Given the description of an element on the screen output the (x, y) to click on. 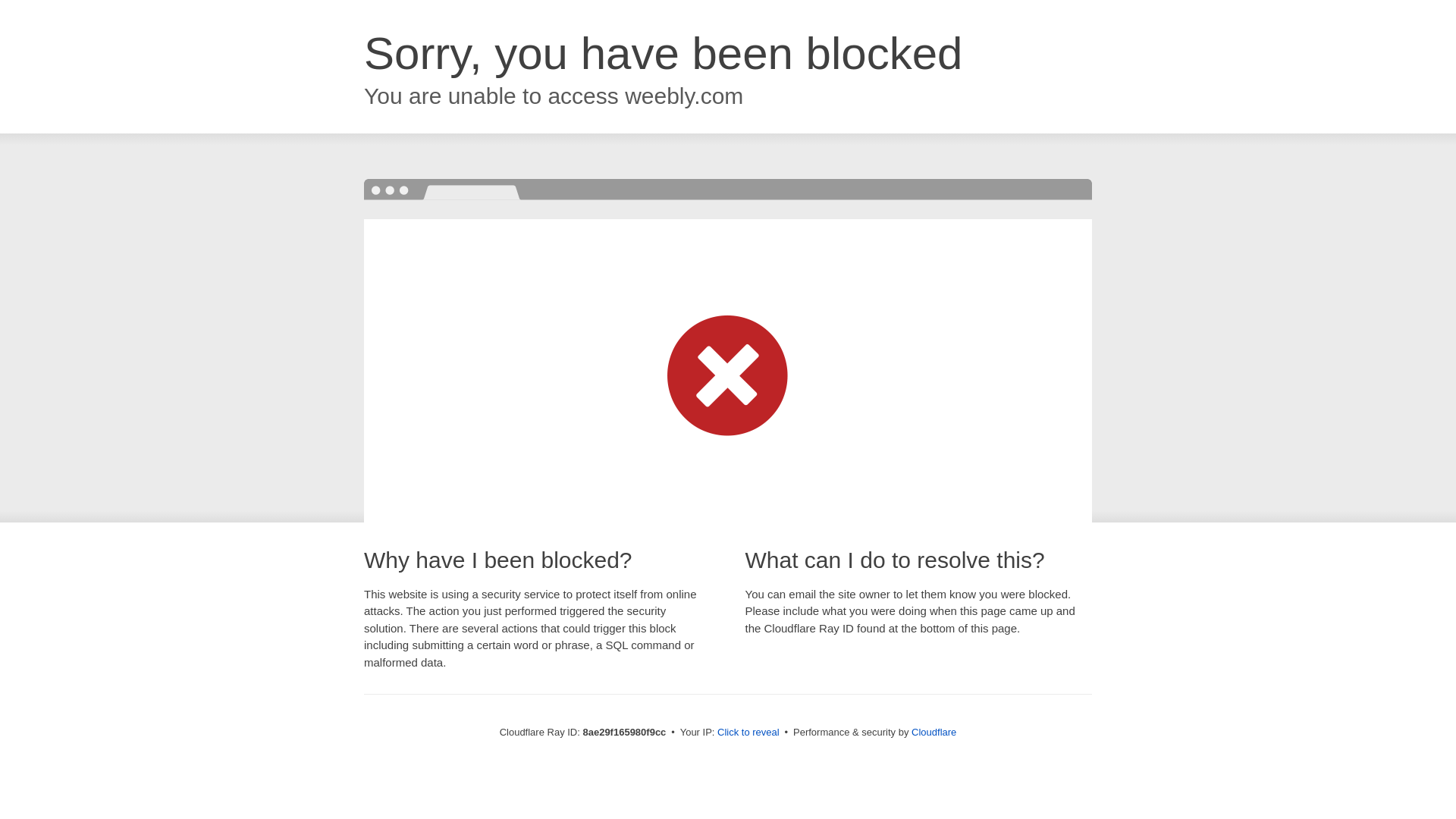
Cloudflare (933, 731)
Click to reveal (747, 732)
